Given the description of an element on the screen output the (x, y) to click on. 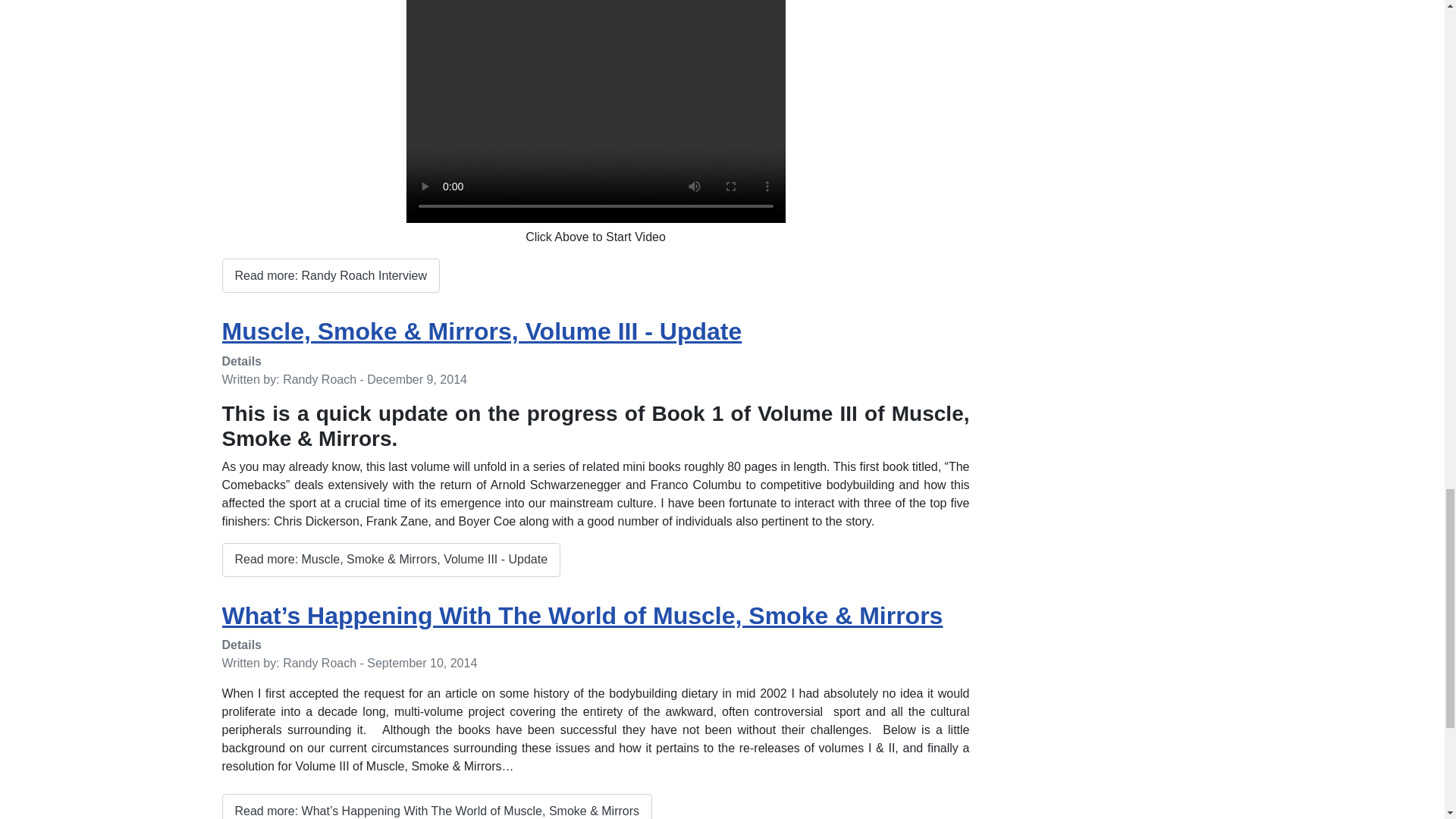
Read more: Randy Roach Interview (330, 275)
